Given the description of an element on the screen output the (x, y) to click on. 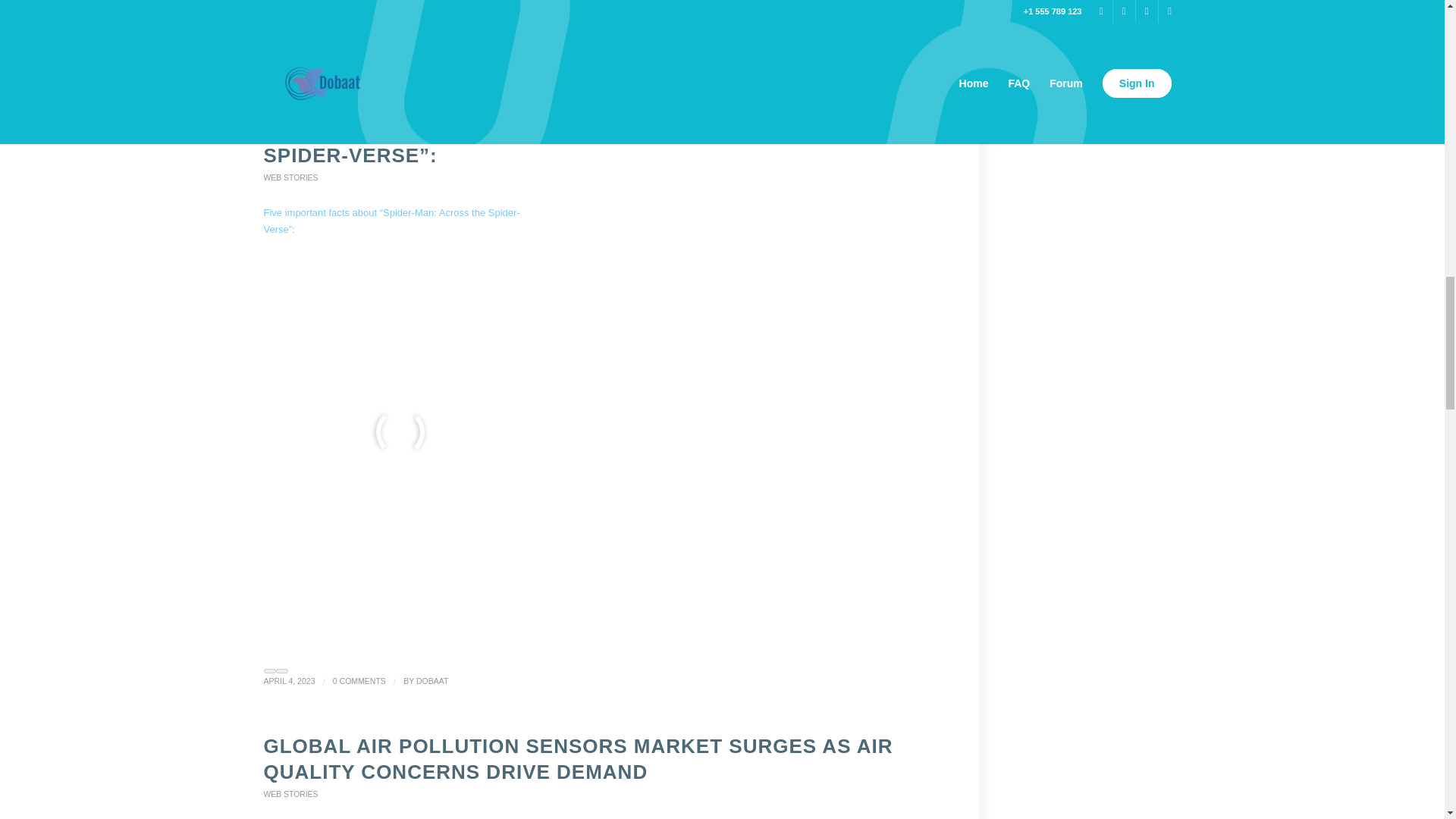
DOBAAT (432, 680)
DOBAAT (436, 64)
0 COMMENTS (363, 64)
WEB STORIES (290, 177)
WEB STORIES (290, 794)
Posts by dobaat (436, 64)
0 COMMENTS (359, 680)
Posts by dobaat (432, 680)
